Given the description of an element on the screen output the (x, y) to click on. 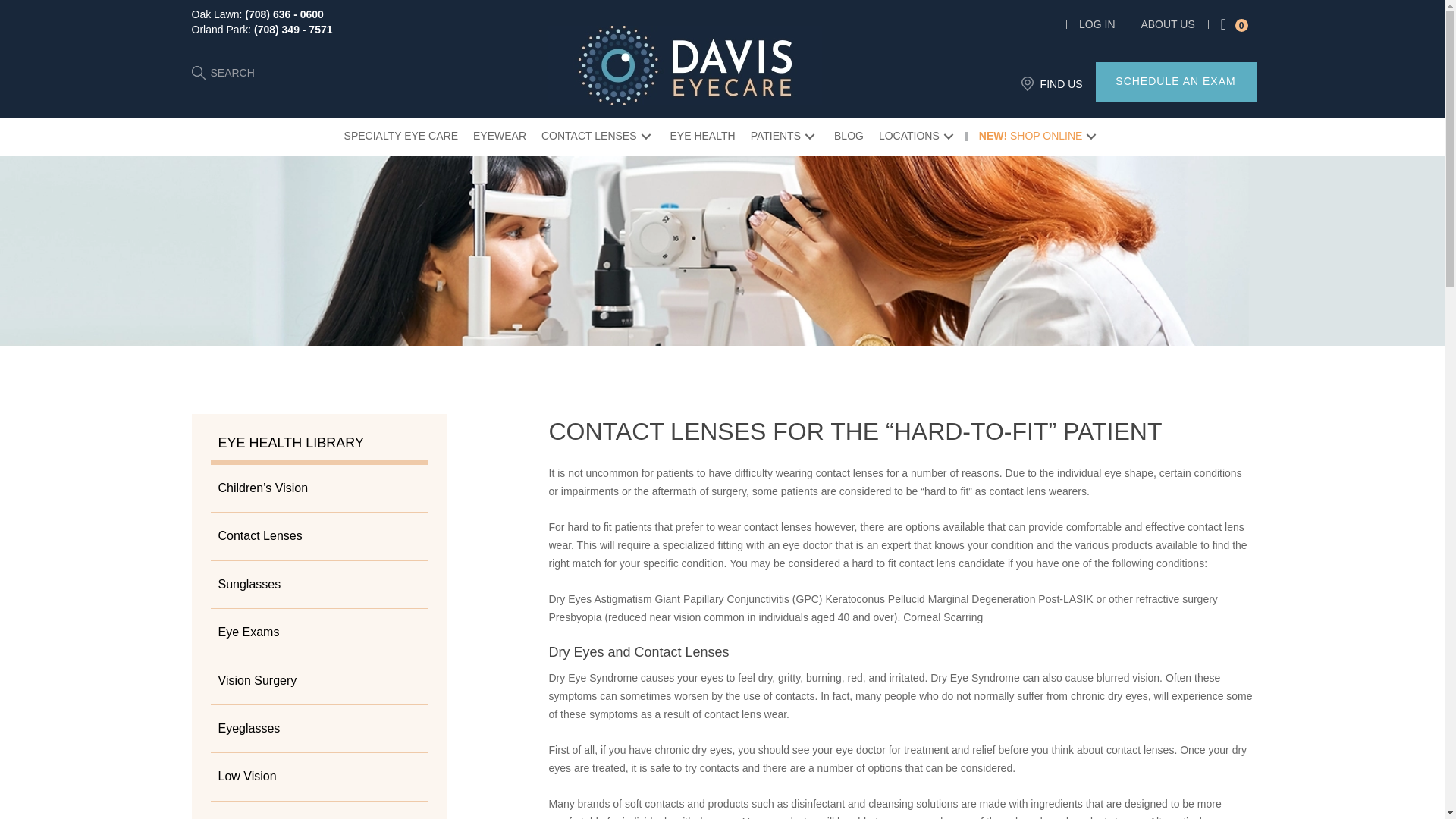
ABOUT US (1166, 24)
CONTACT LENSES (598, 136)
LOCATIONS (917, 136)
logo (685, 65)
EYE HEALTH (702, 136)
find-us (1027, 83)
NEW! SHOP ONLINE (1039, 136)
BLOG (848, 136)
ABOUT US (1166, 24)
LOG IN (1096, 24)
LOG IN (1096, 24)
Search (29, 12)
SCHEDULE AN EXAM (1174, 81)
SPECIALTY EYE CARE (400, 136)
FIND US (1062, 83)
